Given the description of an element on the screen output the (x, y) to click on. 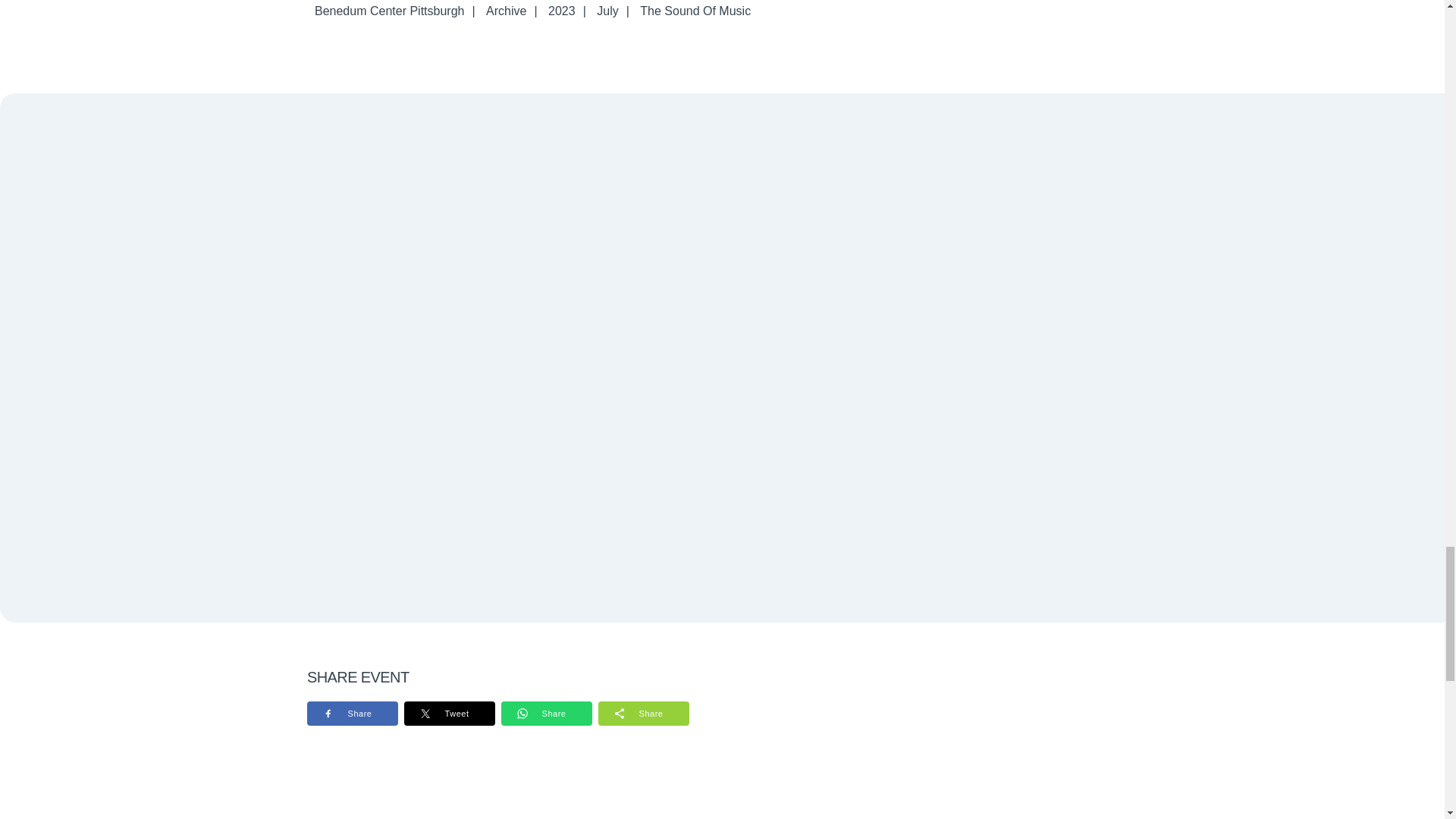
Archive (506, 10)
2023 (561, 10)
July (607, 10)
Benedum Center Pittsburgh (389, 10)
